Given the description of an element on the screen output the (x, y) to click on. 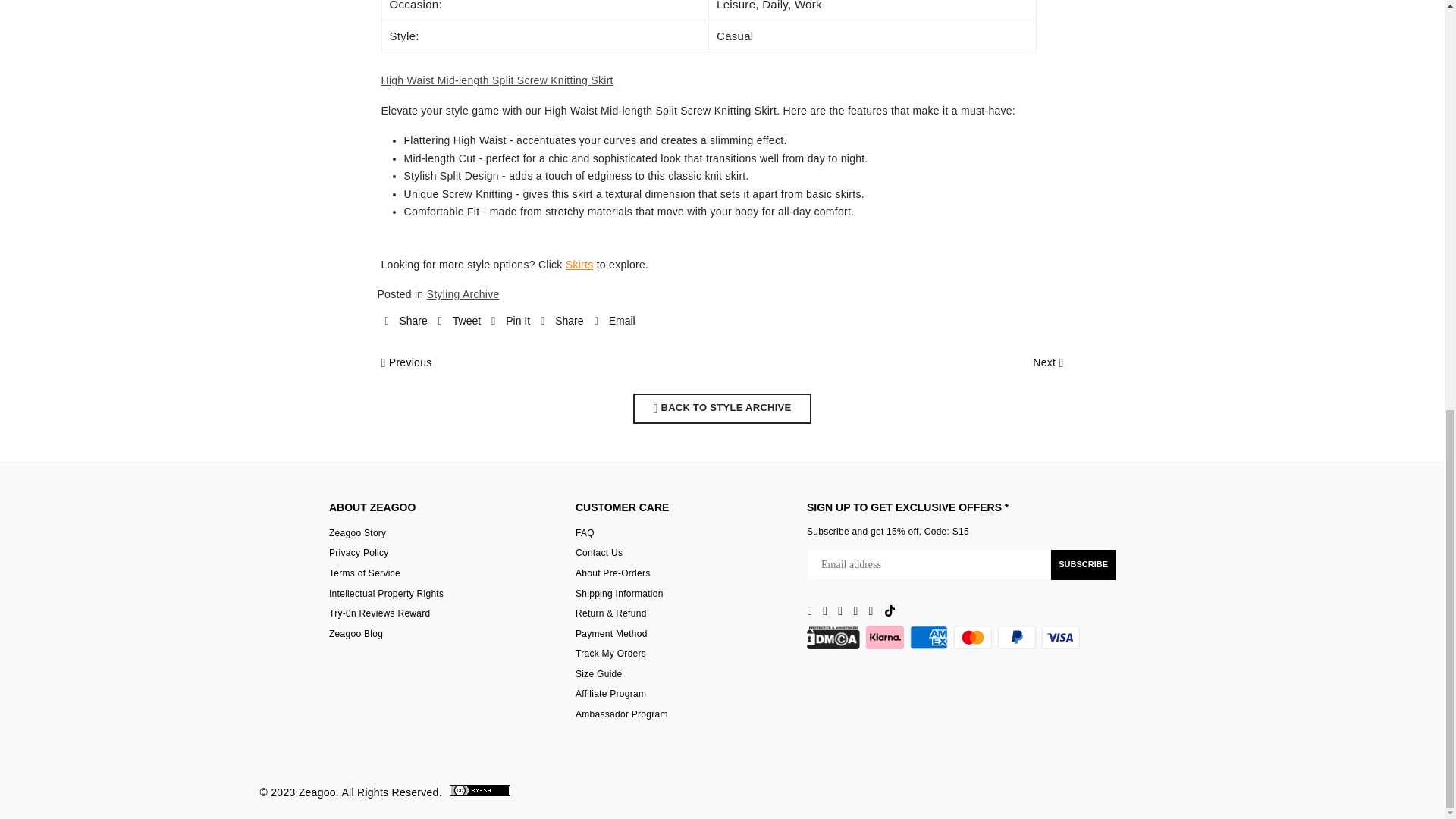
Klarna (885, 637)
Tweet on Twitter (459, 321)
Visa (1061, 637)
Share on Linked In (561, 321)
American Express (928, 637)
High Waist Mid-length Split Screw Knitting Skirt (496, 80)
Skirts (580, 264)
PayPal (1016, 637)
Mastercard (972, 637)
Pin on Pinterest (510, 321)
Share on Facebook (406, 321)
